Given the description of an element on the screen output the (x, y) to click on. 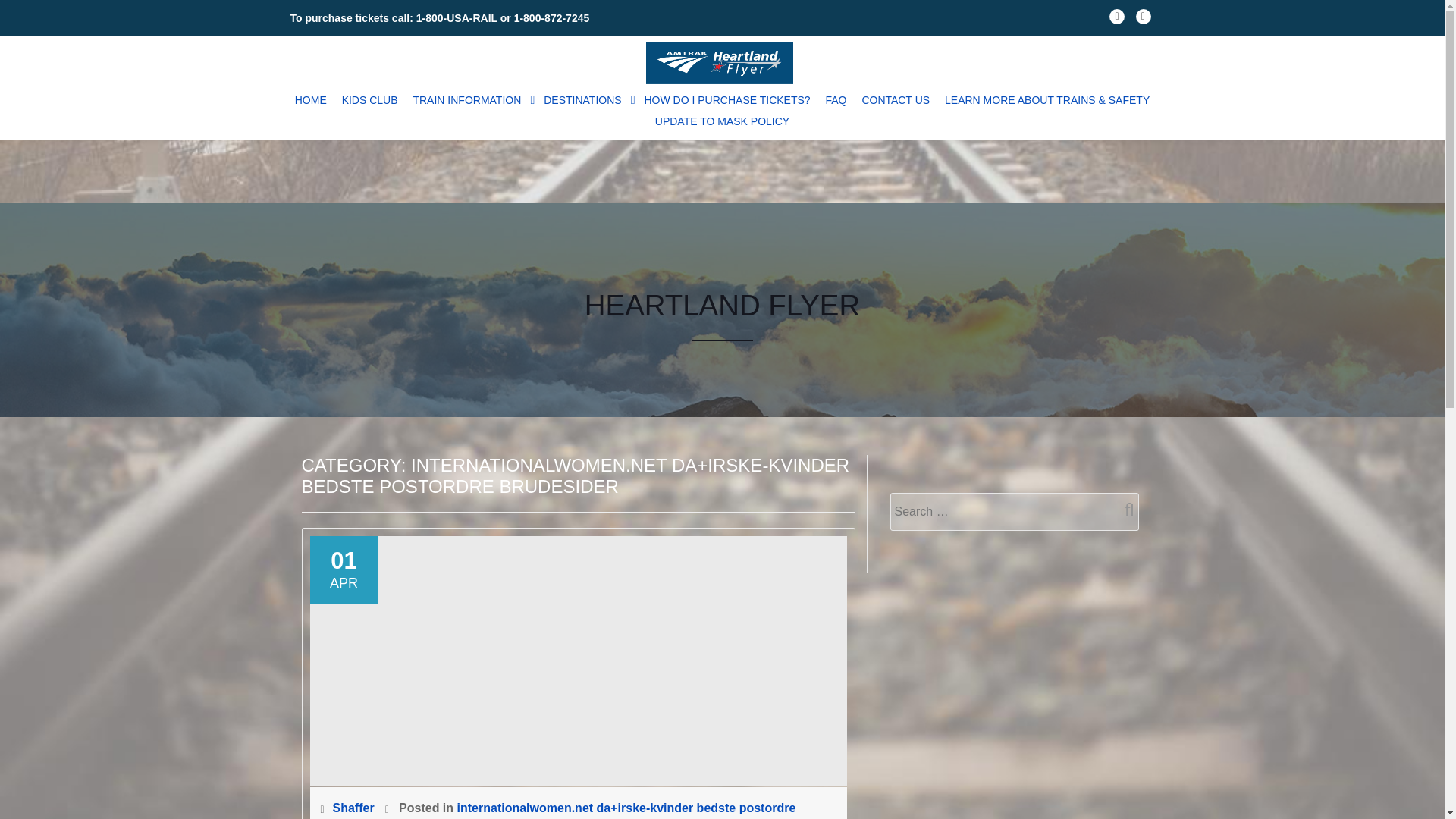
HOW DO I PURCHASE TICKETS? (727, 99)
Search (1122, 509)
TRAIN INFORMATION (470, 99)
HOME (310, 99)
FAQ (834, 99)
fa-twitter (1143, 19)
Search (1122, 509)
Search (1122, 509)
Shaffer (354, 807)
UPDATE TO MASK POLICY (721, 120)
KIDS CLUB (370, 99)
CONTACT US (896, 99)
How millennials are rescuing the newest porn industry (576, 659)
Heartland Flyer (722, 62)
